Given the description of an element on the screen output the (x, y) to click on. 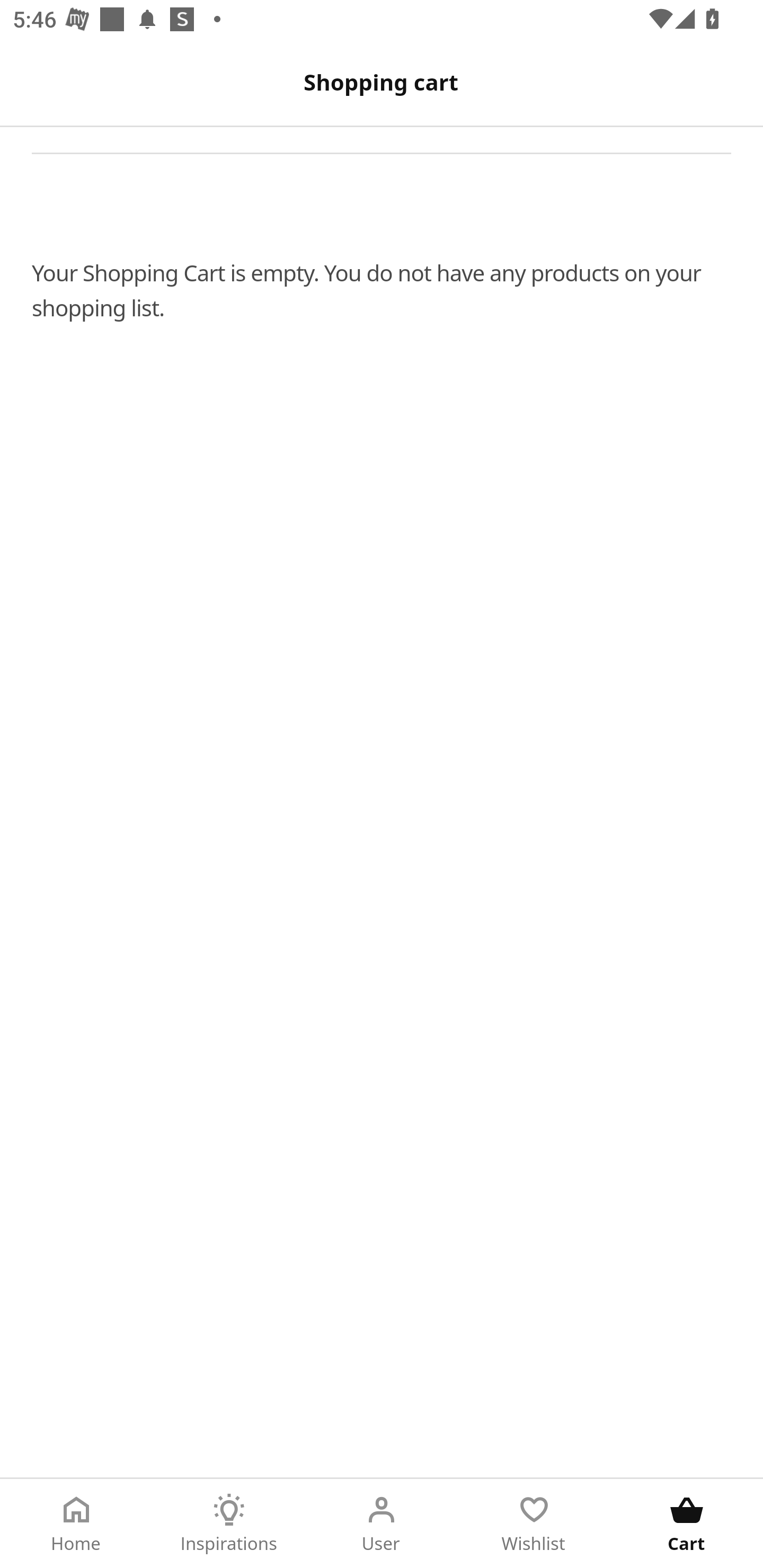
Home
Tab 1 of 5 (76, 1522)
Inspirations
Tab 2 of 5 (228, 1522)
User
Tab 3 of 5 (381, 1522)
Wishlist
Tab 4 of 5 (533, 1522)
Cart
Tab 5 of 5 (686, 1522)
